Given the description of an element on the screen output the (x, y) to click on. 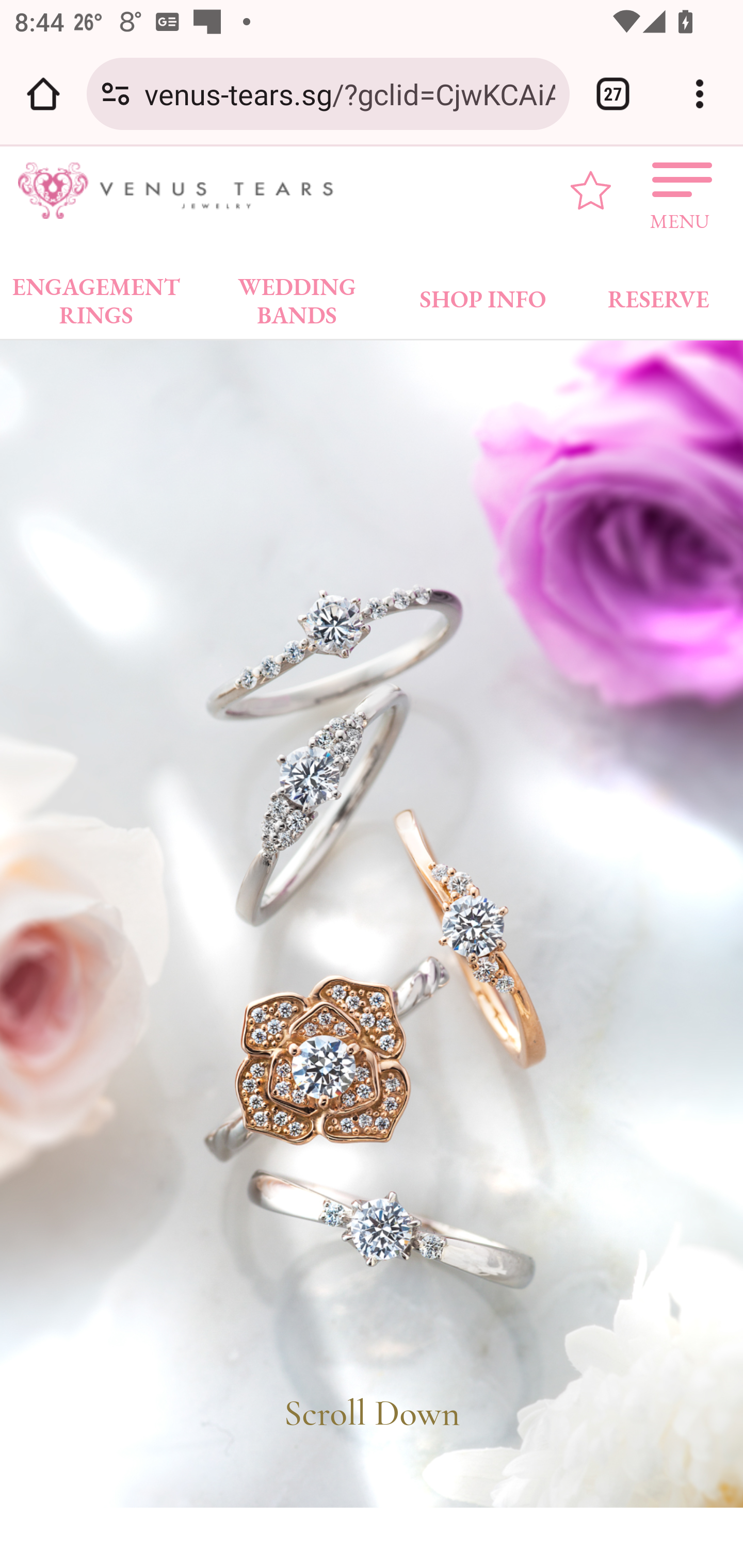
Open the home page (43, 93)
Connection is secure (115, 93)
Switch or close tabs (612, 93)
Customize and control Google Chrome (699, 93)
favourite (591, 190)
VENUS TEARS (181, 191)
ENGAGEMENT RINGS ENGAGEMENT RINGS (96, 295)
WEDDING BANDS WEDDING BANDS (296, 295)
SHOP INFO (482, 294)
RESERVE (657, 294)
